Given the description of an element on the screen output the (x, y) to click on. 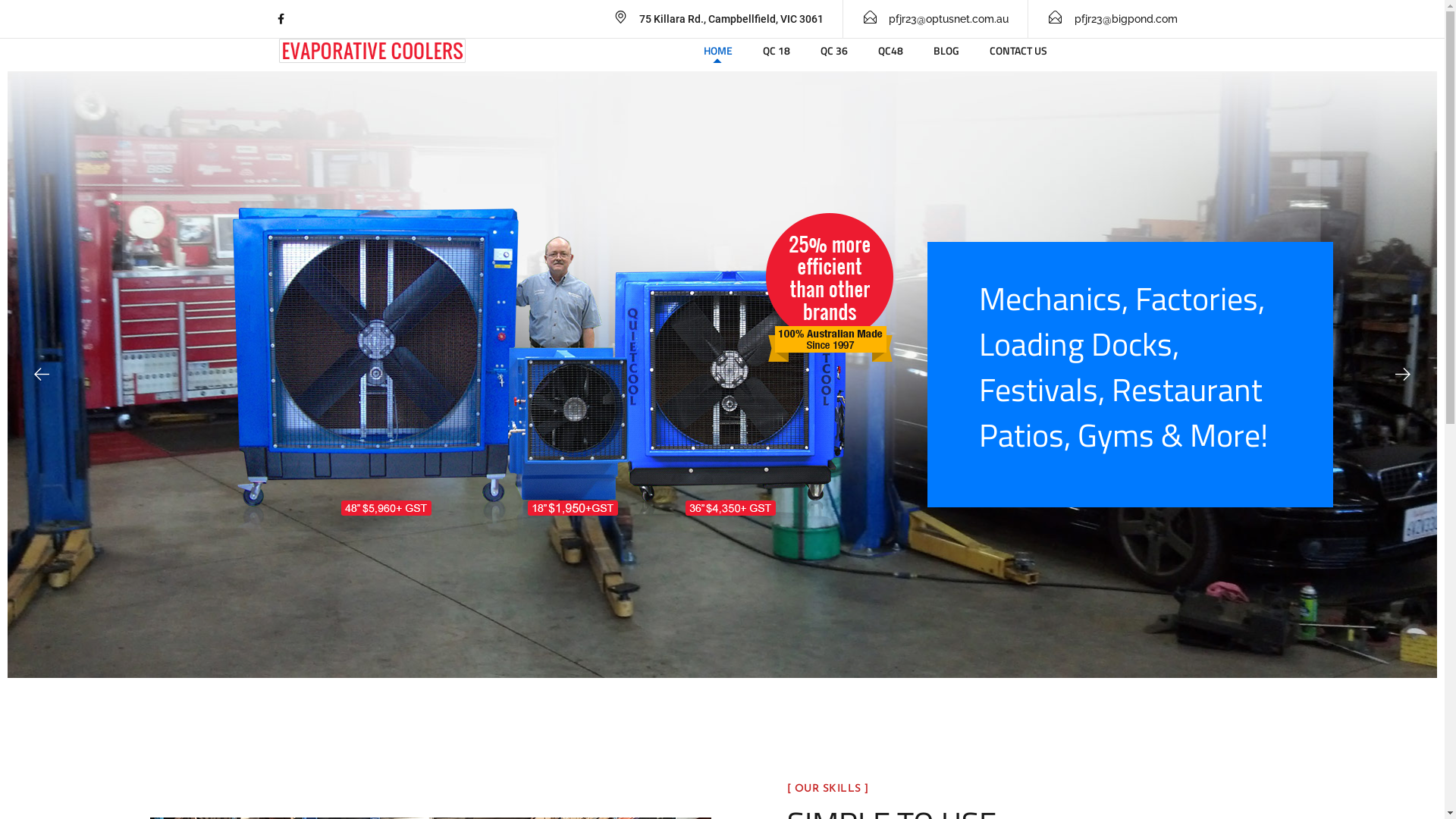
pfjr23@optusnet.com.au Element type: text (935, 18)
pfjr23@bigpond.com Element type: text (1111, 18)
CONTACT US Element type: text (1018, 50)
QC 18 Element type: text (776, 50)
QC 36 Element type: text (833, 50)
HOME Element type: text (717, 50)
QC48 Element type: text (890, 50)
BLOG Element type: text (946, 50)
